Given the description of an element on the screen output the (x, y) to click on. 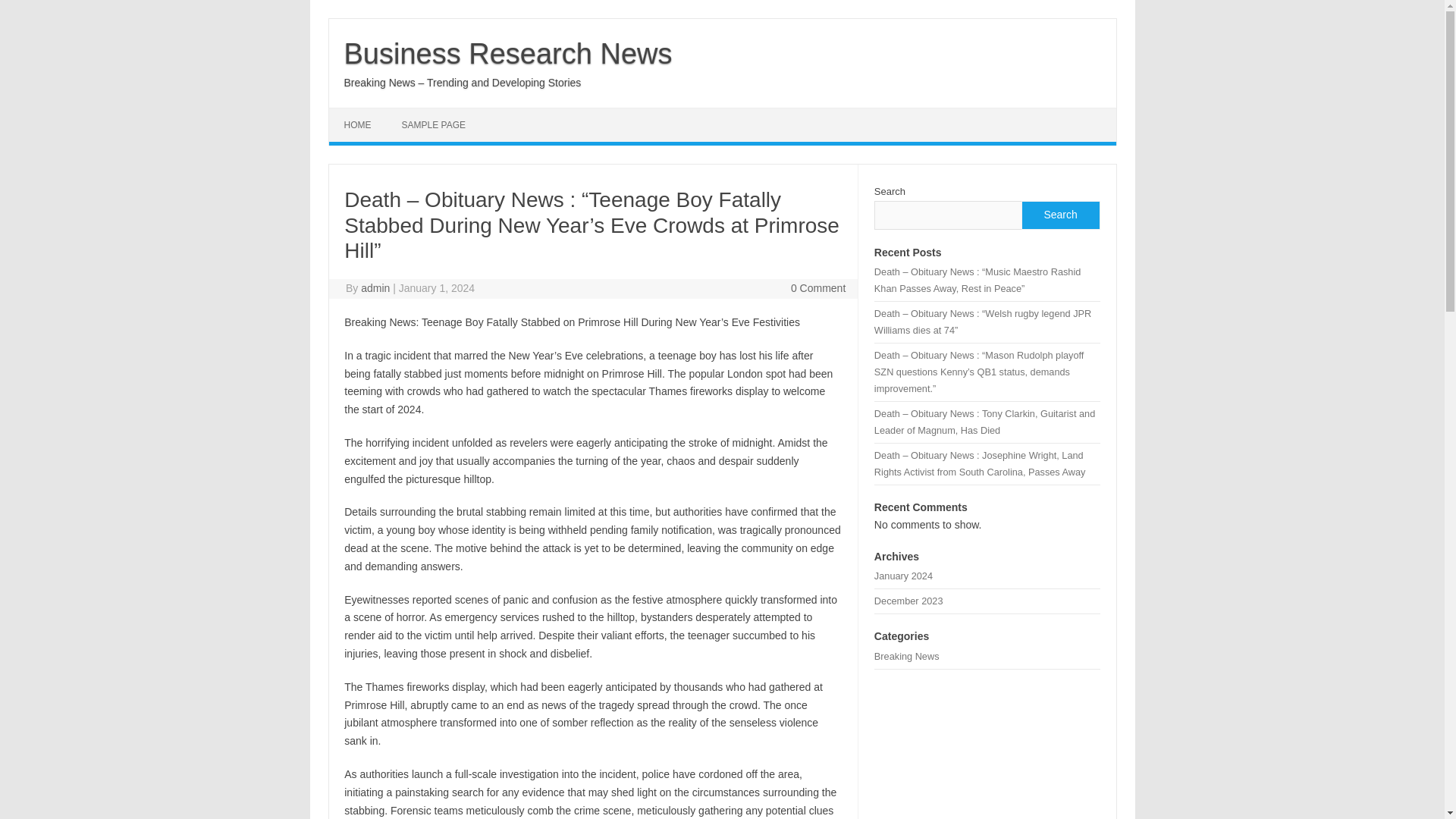
Breaking News (907, 655)
January 2024 (904, 575)
Business Research News (507, 53)
admin (375, 287)
Business Research News (507, 53)
Search (1059, 215)
HOME (358, 124)
Posts by admin (375, 287)
